Given the description of an element on the screen output the (x, y) to click on. 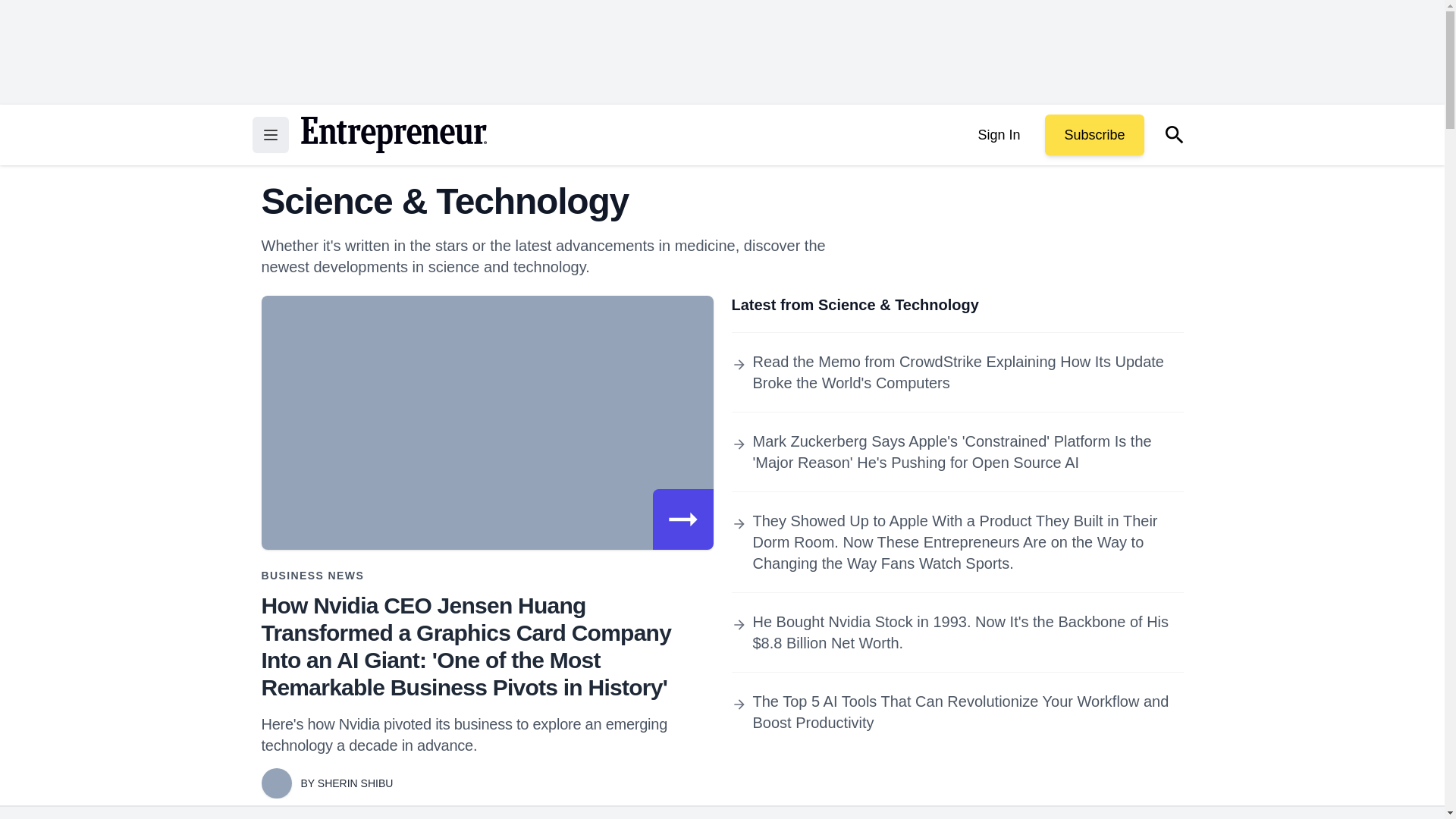
Subscribe (1093, 134)
Return to the home page (392, 135)
Sign In (998, 134)
